Given the description of an element on the screen output the (x, y) to click on. 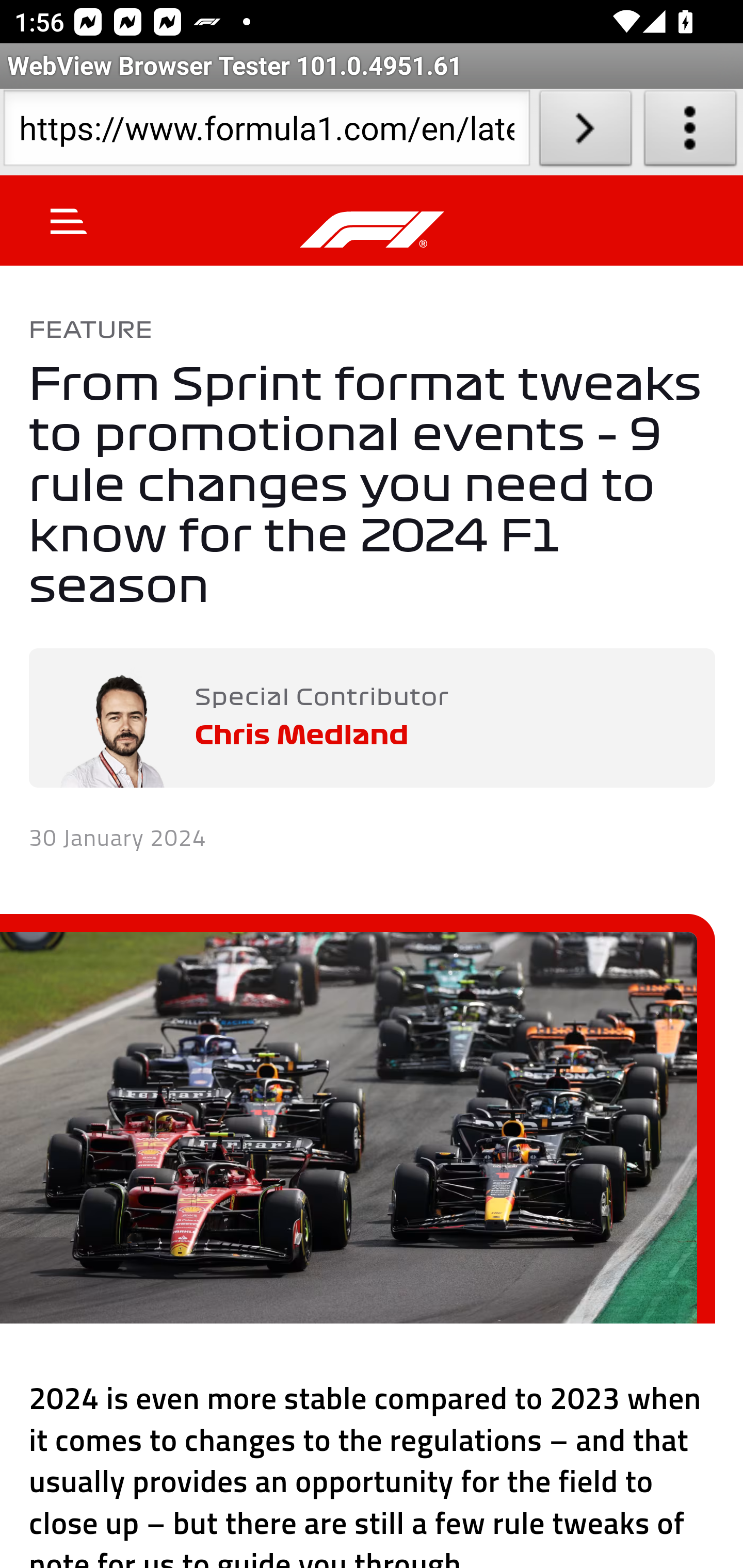
Load URL (585, 132)
About WebView (690, 132)
Toggle Menu (68, 220)
Formula 1 (372, 230)
